Given the description of an element on the screen output the (x, y) to click on. 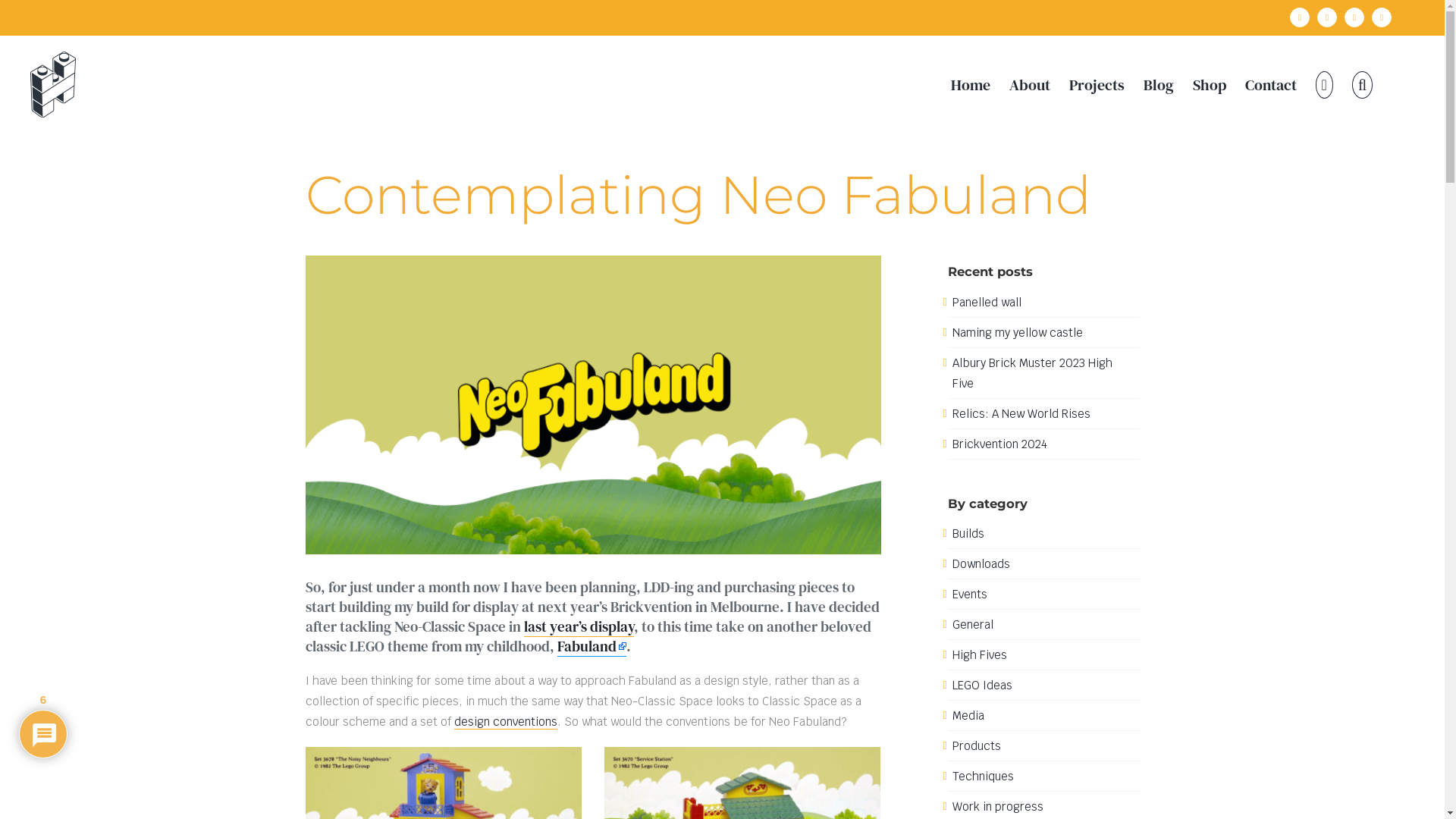
Relics: A New World Rises Element type: text (1021, 413)
Instagram Element type: text (1326, 17)
Flickr Element type: text (1354, 17)
Naming my yellow castle Element type: text (1017, 332)
Search Element type: hover (1362, 84)
Builds Element type: text (968, 533)
LEGO Ideas Element type: text (982, 684)
Projects Element type: text (1096, 84)
design conventions Element type: text (504, 721)
Work in progress Element type: text (997, 806)
YouTube Element type: text (1381, 17)
Shop Element type: text (1209, 84)
General Element type: text (972, 624)
Fabuland Element type: text (590, 646)
Downloads Element type: text (981, 563)
Blog Element type: text (1158, 84)
High Fives Element type: text (979, 654)
Events Element type: text (969, 593)
Panelled wall Element type: text (986, 301)
Albury Brick Muster 2023 High Five Element type: text (1032, 372)
Home Element type: text (970, 84)
Contact Element type: text (1270, 84)
About Element type: text (1029, 84)
Facebook Element type: text (1299, 17)
Brickvention 2024 Element type: text (999, 443)
Techniques Element type: text (982, 775)
Products Element type: text (976, 745)
Media Element type: text (968, 715)
